Given the description of an element on the screen output the (x, y) to click on. 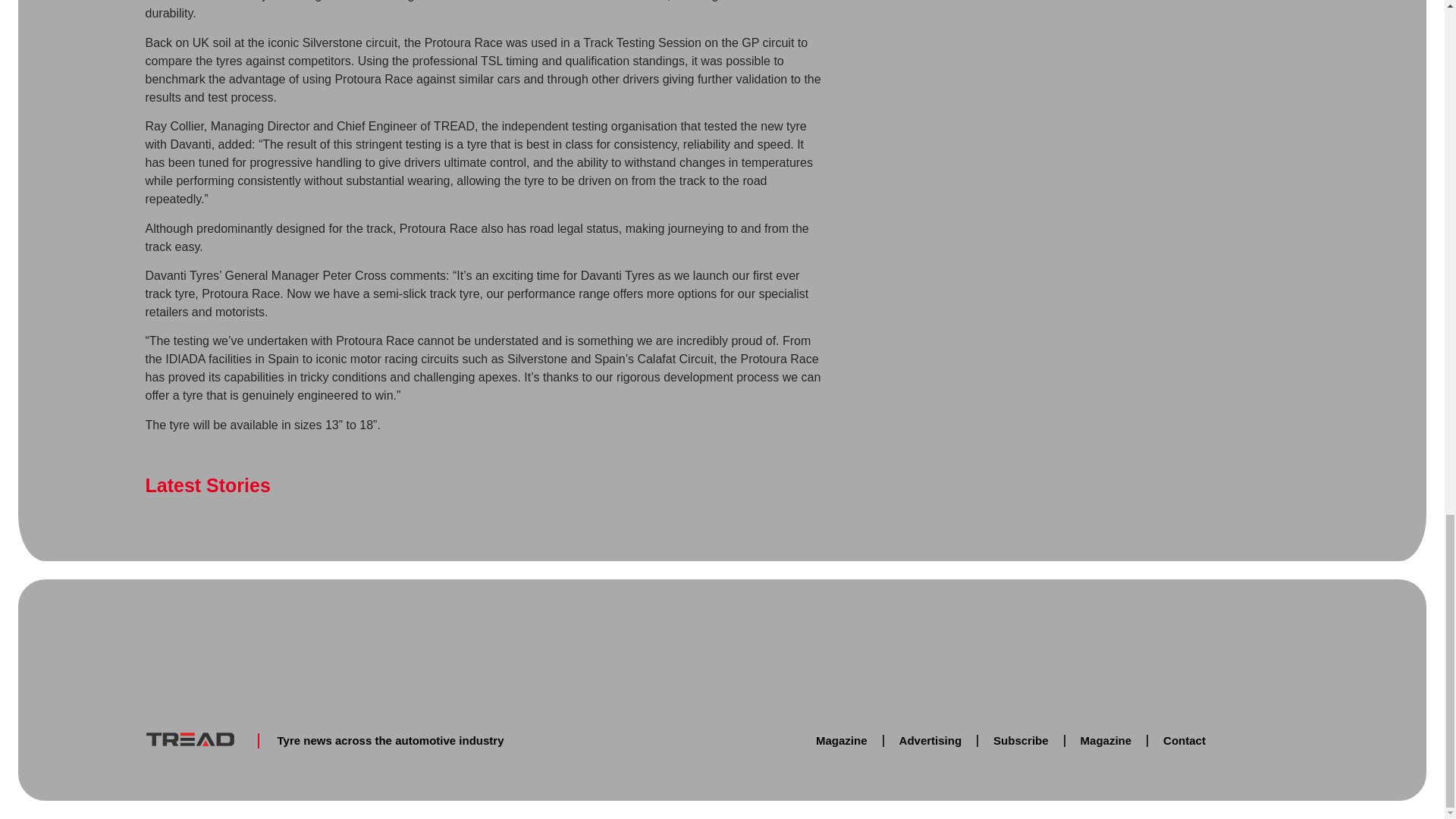
Contact (1184, 740)
Subscribe (1021, 740)
Advertising (929, 740)
Magazine (841, 740)
Magazine (1106, 740)
